Given the description of an element on the screen output the (x, y) to click on. 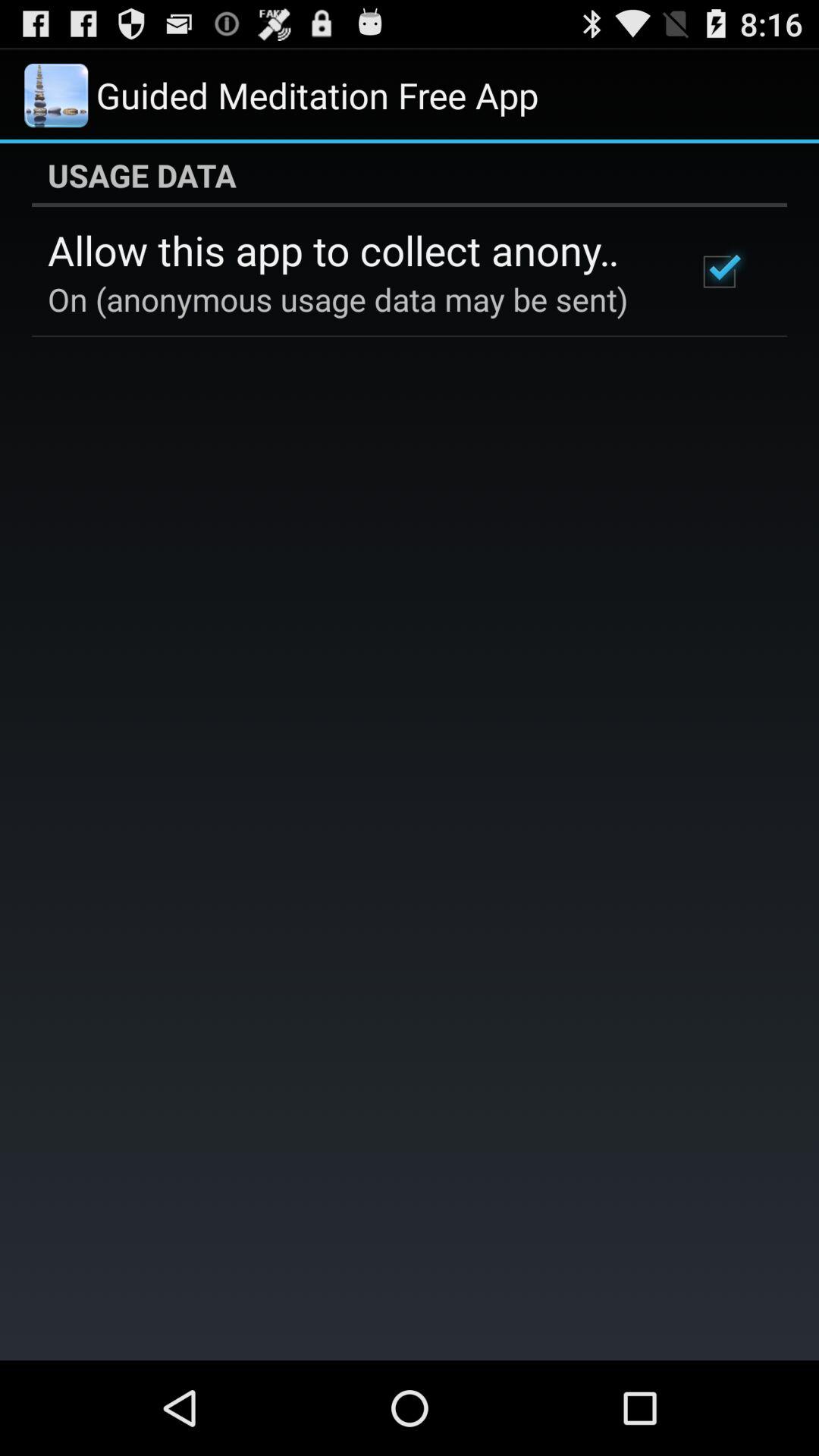
launch the item next to the allow this app (719, 271)
